Given the description of an element on the screen output the (x, y) to click on. 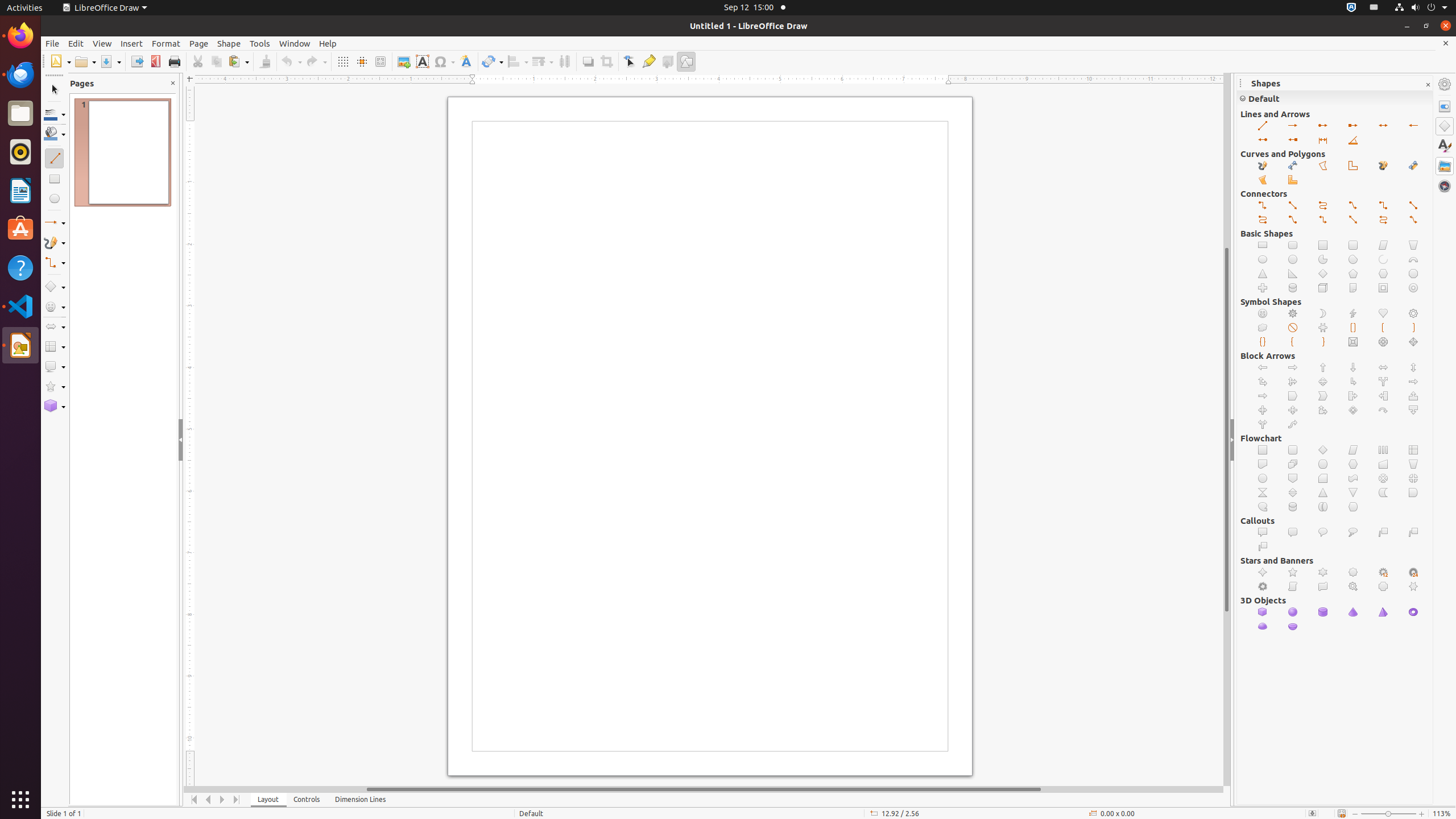
Line Callout 2 Element type: list-item (1413, 532)
Left and Right Arrow Callout Element type: list-item (1262, 410)
Close Sidebar Deck Element type: push-button (1427, 84)
Block Arc Element type: list-item (1413, 259)
Gallery Element type: radio-button (1444, 165)
